Given the description of an element on the screen output the (x, y) to click on. 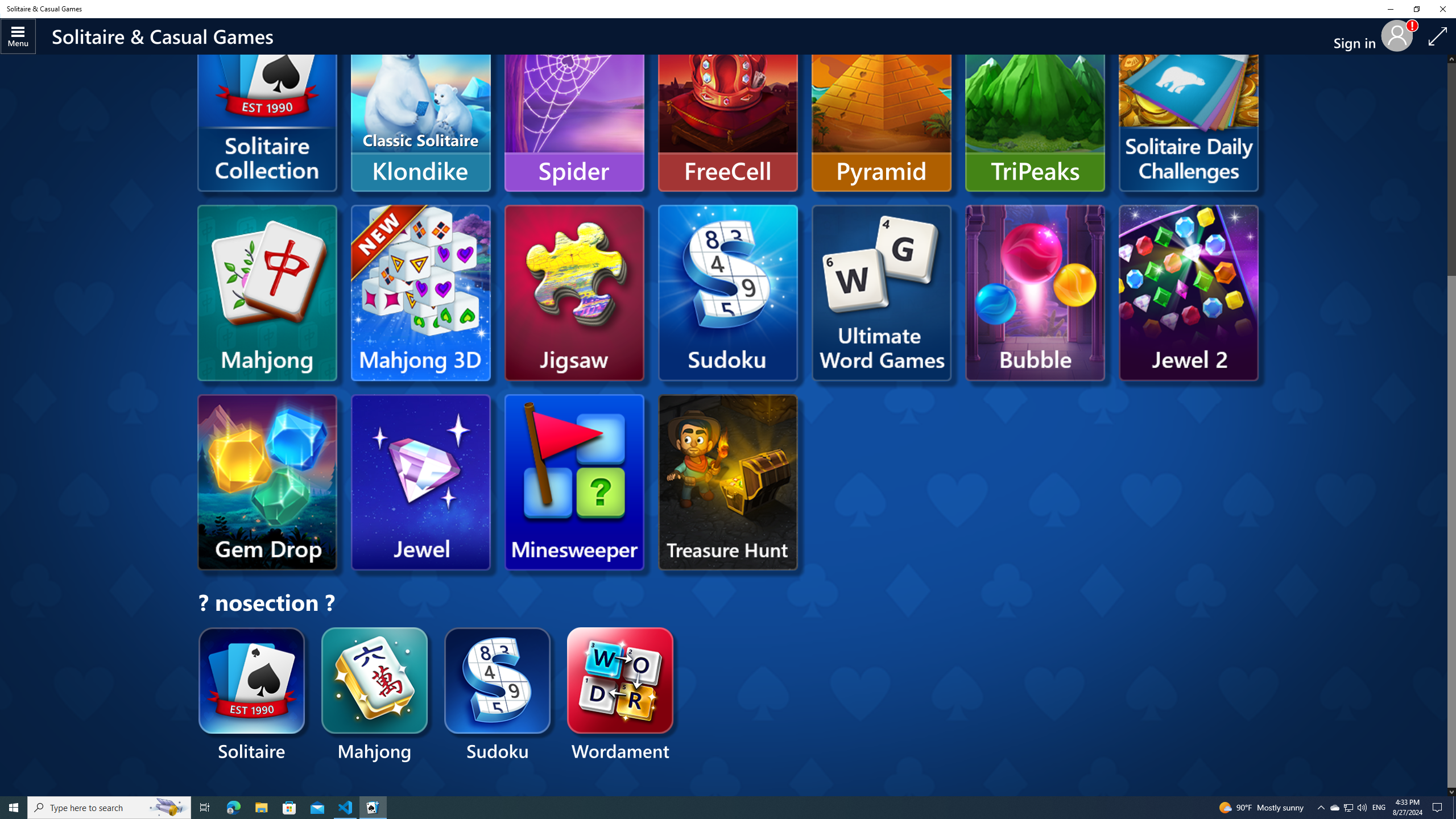
Microsoft Minesweeper (574, 481)
Running applications (706, 807)
Microsoft Mahjong (267, 292)
Challenges (1187, 103)
Mahjong 3D (420, 292)
Microsoft Jigsaw (574, 292)
Menu (18, 36)
Spider (574, 103)
Mahjong (374, 695)
